Given the description of an element on the screen output the (x, y) to click on. 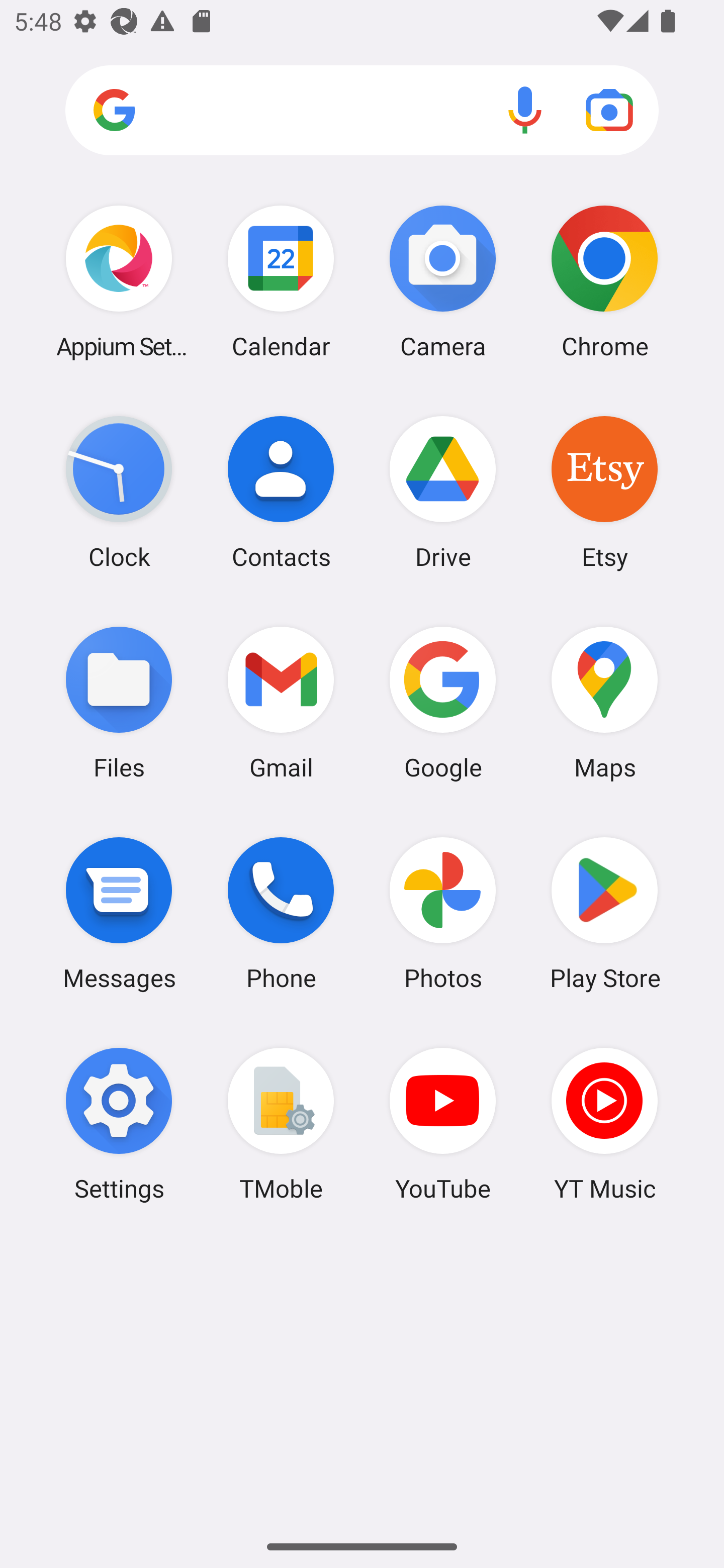
Search apps, web and more (361, 110)
Voice search (524, 109)
Google Lens (608, 109)
Appium Settings (118, 281)
Calendar (280, 281)
Camera (443, 281)
Chrome (604, 281)
Clock (118, 492)
Contacts (280, 492)
Drive (443, 492)
Etsy (604, 492)
Files (118, 702)
Gmail (280, 702)
Google (443, 702)
Maps (604, 702)
Messages (118, 913)
Phone (280, 913)
Photos (443, 913)
Play Store (604, 913)
Settings (118, 1124)
TMoble (280, 1124)
YouTube (443, 1124)
YT Music (604, 1124)
